Given the description of an element on the screen output the (x, y) to click on. 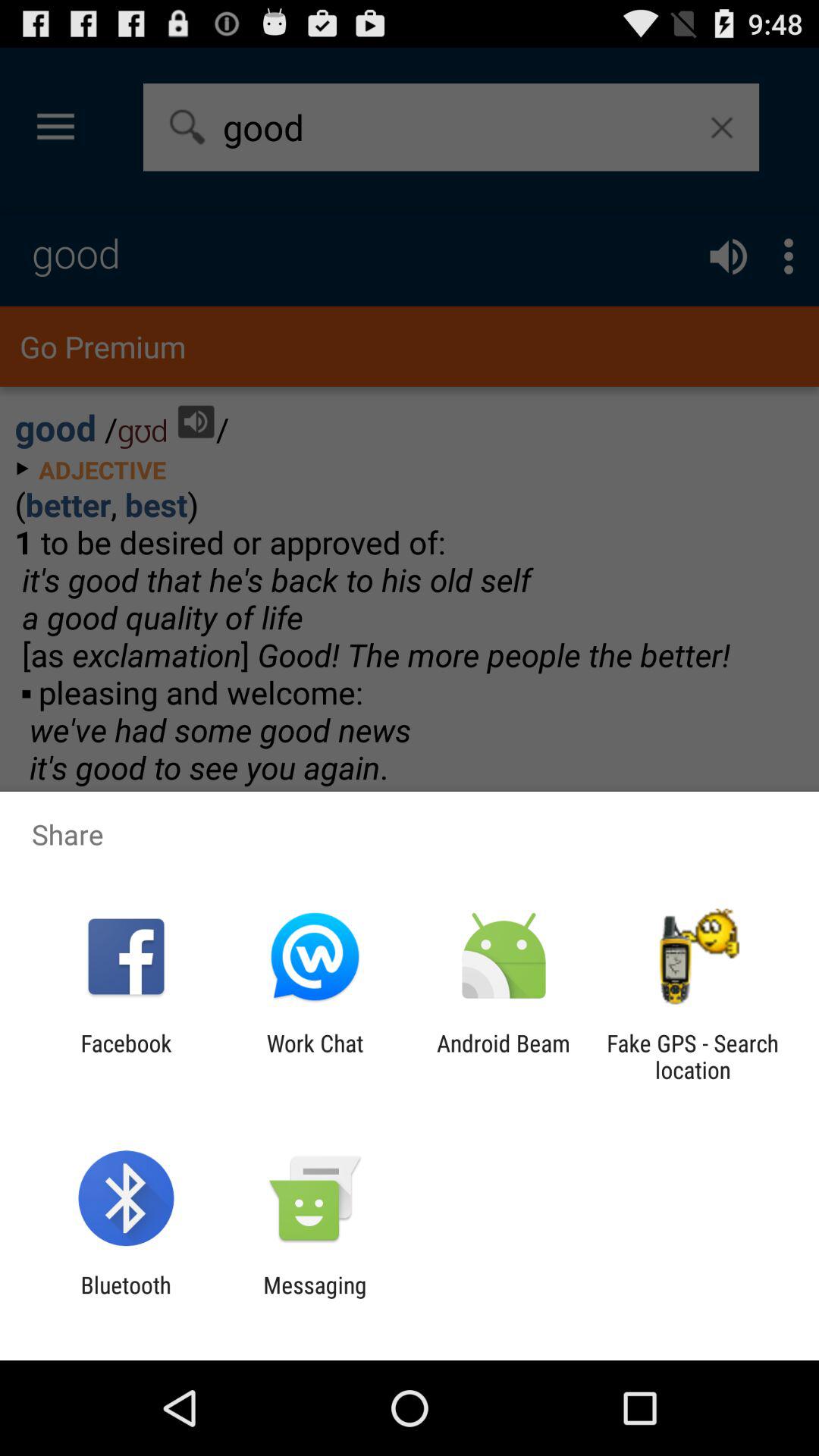
open the item to the right of the facebook (314, 1056)
